Given the description of an element on the screen output the (x, y) to click on. 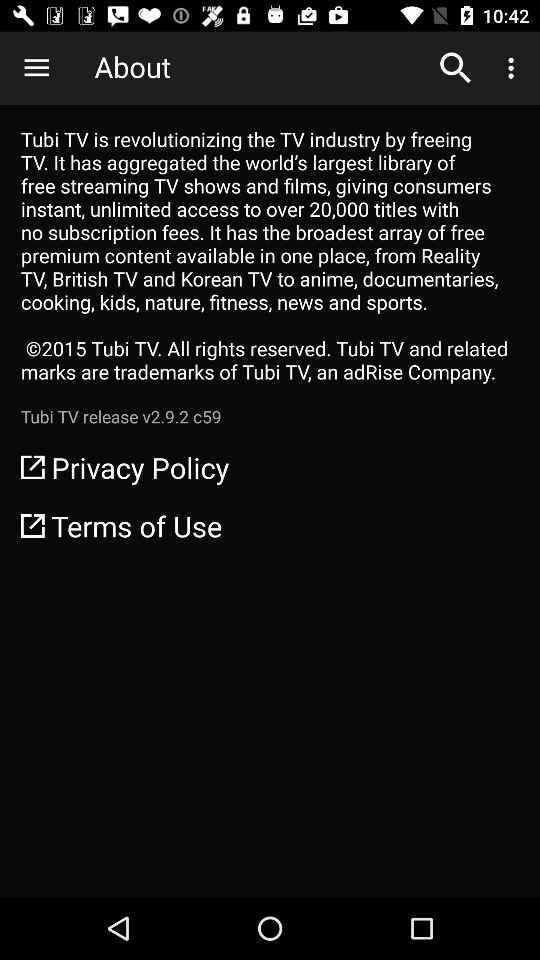
choose item next to about icon (36, 68)
